Given the description of an element on the screen output the (x, y) to click on. 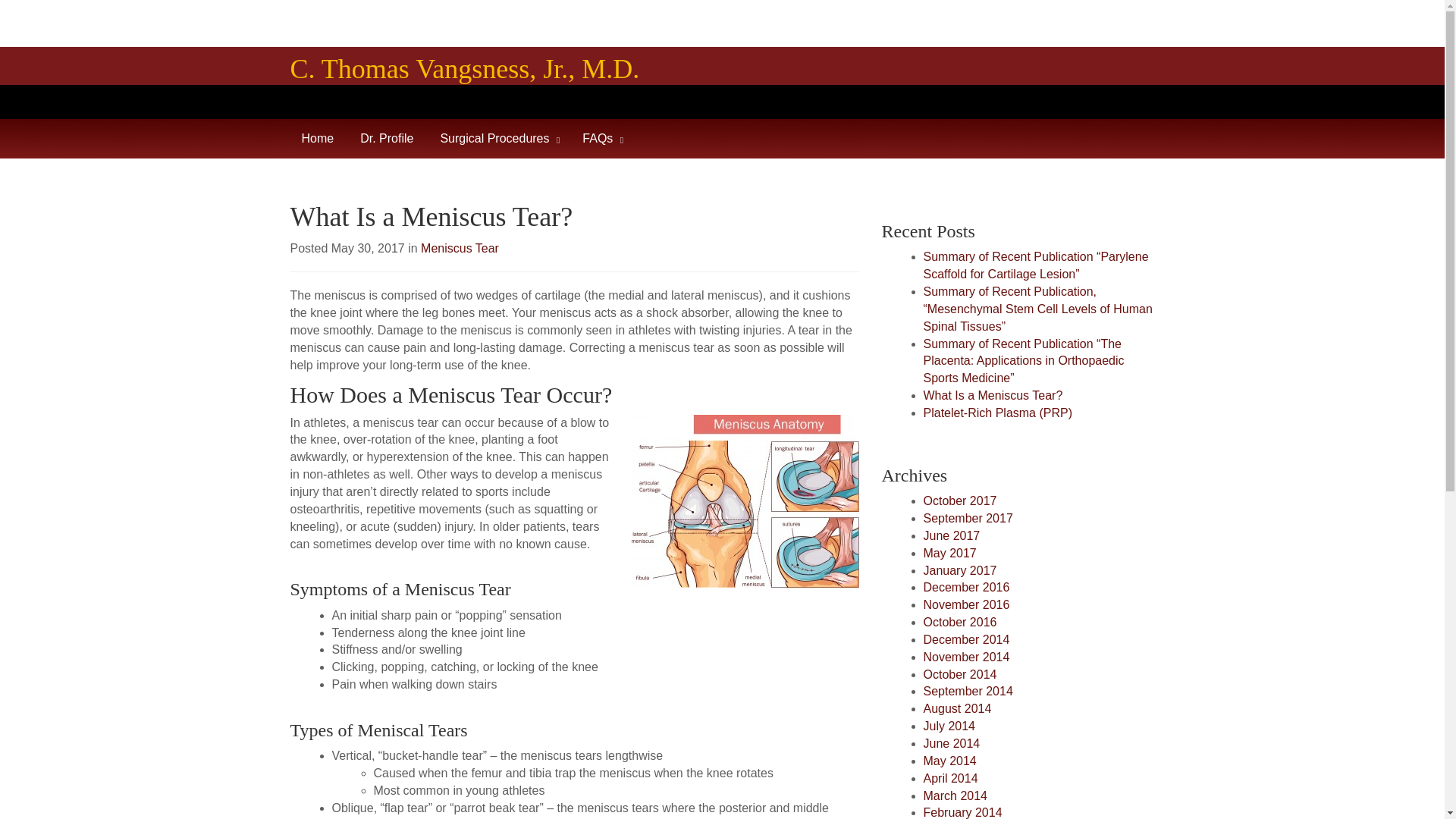
October 2014 (960, 674)
May 2014 (949, 760)
July 2014 (949, 725)
August 2014 (957, 707)
Surgical Procedures (510, 138)
Dr. Profile (399, 138)
May 2017 (949, 553)
What Is a Meniscus Tear? (992, 395)
January 2017 (960, 570)
September 2017 (968, 517)
Dr. Profile (399, 138)
April 2014 (950, 778)
December 2016 (966, 586)
Surgical Procedures (510, 138)
Home (331, 138)
